Given the description of an element on the screen output the (x, y) to click on. 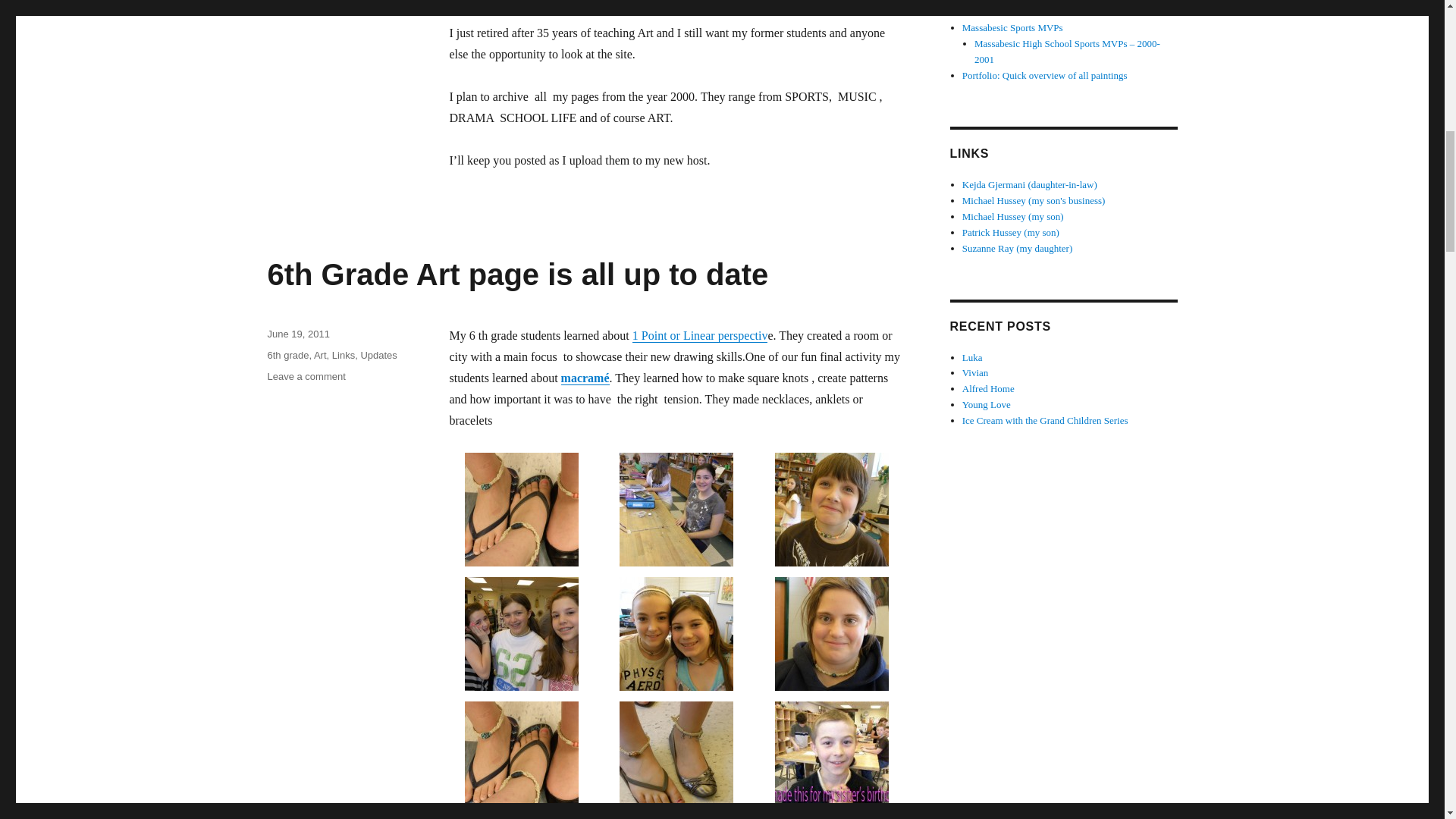
1 Point or Linear perspectiv (699, 335)
6th Grade Art page is all up to date (517, 274)
Suzanne Hussey (1016, 247)
Kejda Gjermani (1029, 184)
Michael Hussey (1013, 215)
